Given the description of an element on the screen output the (x, y) to click on. 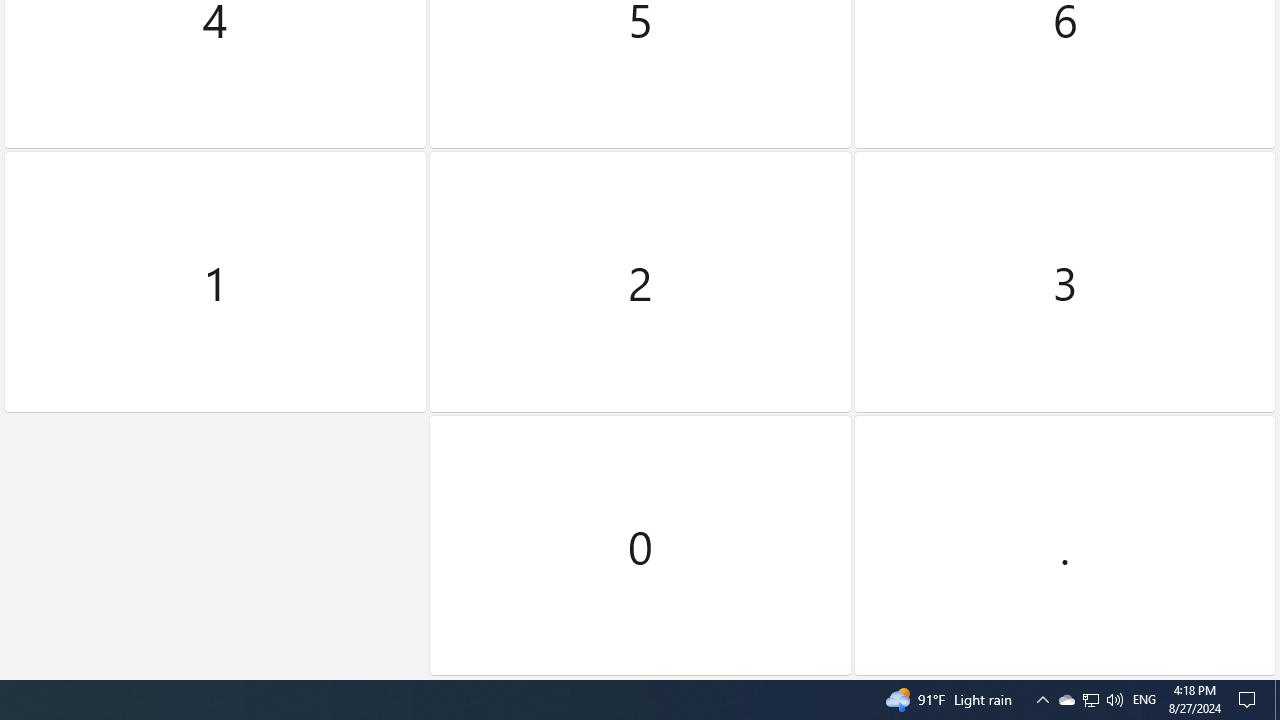
Zero (640, 545)
Two (640, 282)
One (215, 282)
Decimal separator (1064, 545)
Three (1064, 282)
